Given the description of an element on the screen output the (x, y) to click on. 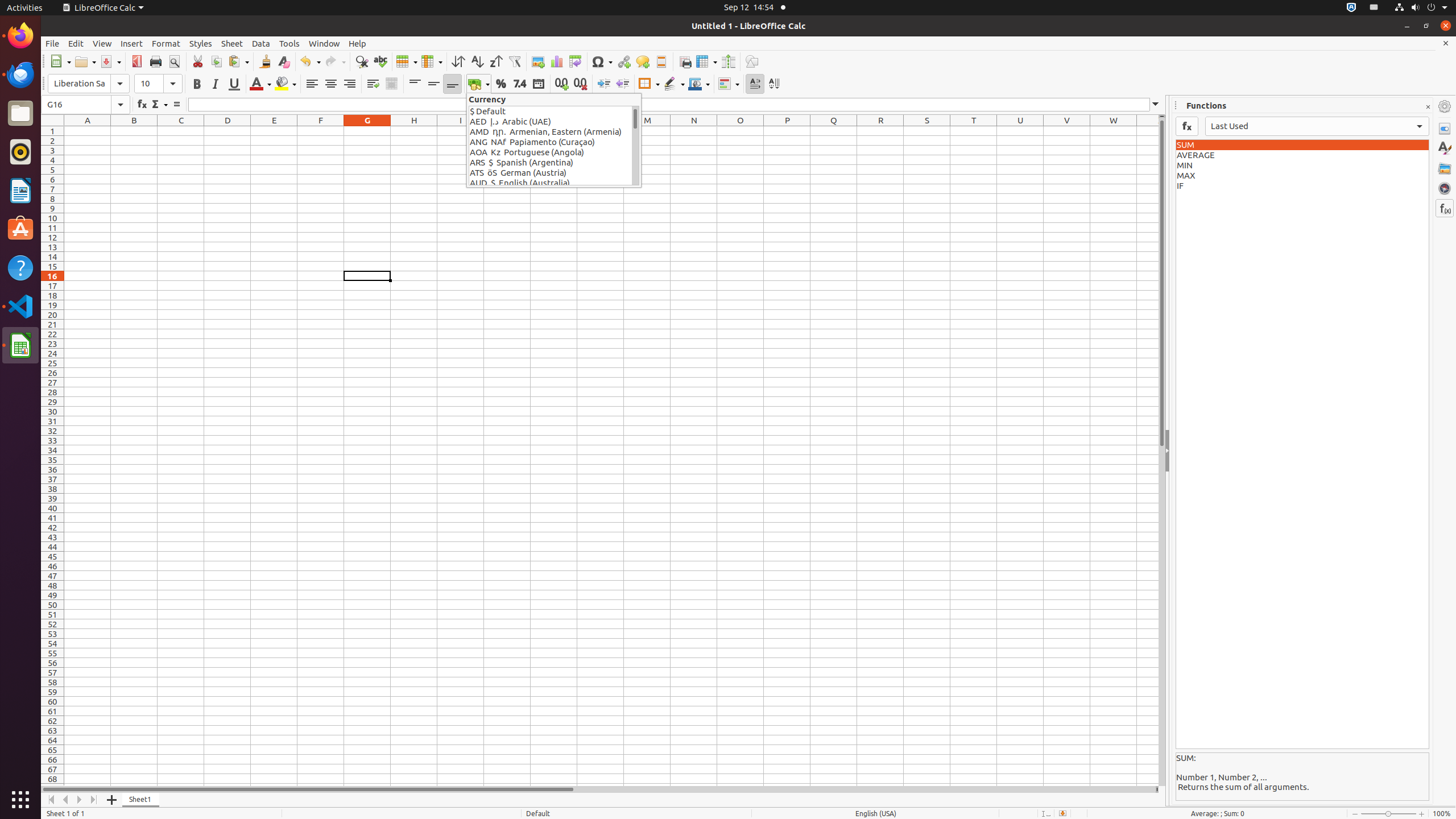
Text direction from top to bottom Element type: toggle-button (773, 83)
Window Element type: menu (324, 43)
Percent Element type: push-button (500, 83)
‪ARS‬  $  ‪Spanish (Argentina)‬ Element type: list-item (550, 162)
Pivot Table Element type: push-button (574, 61)
